Given the description of an element on the screen output the (x, y) to click on. 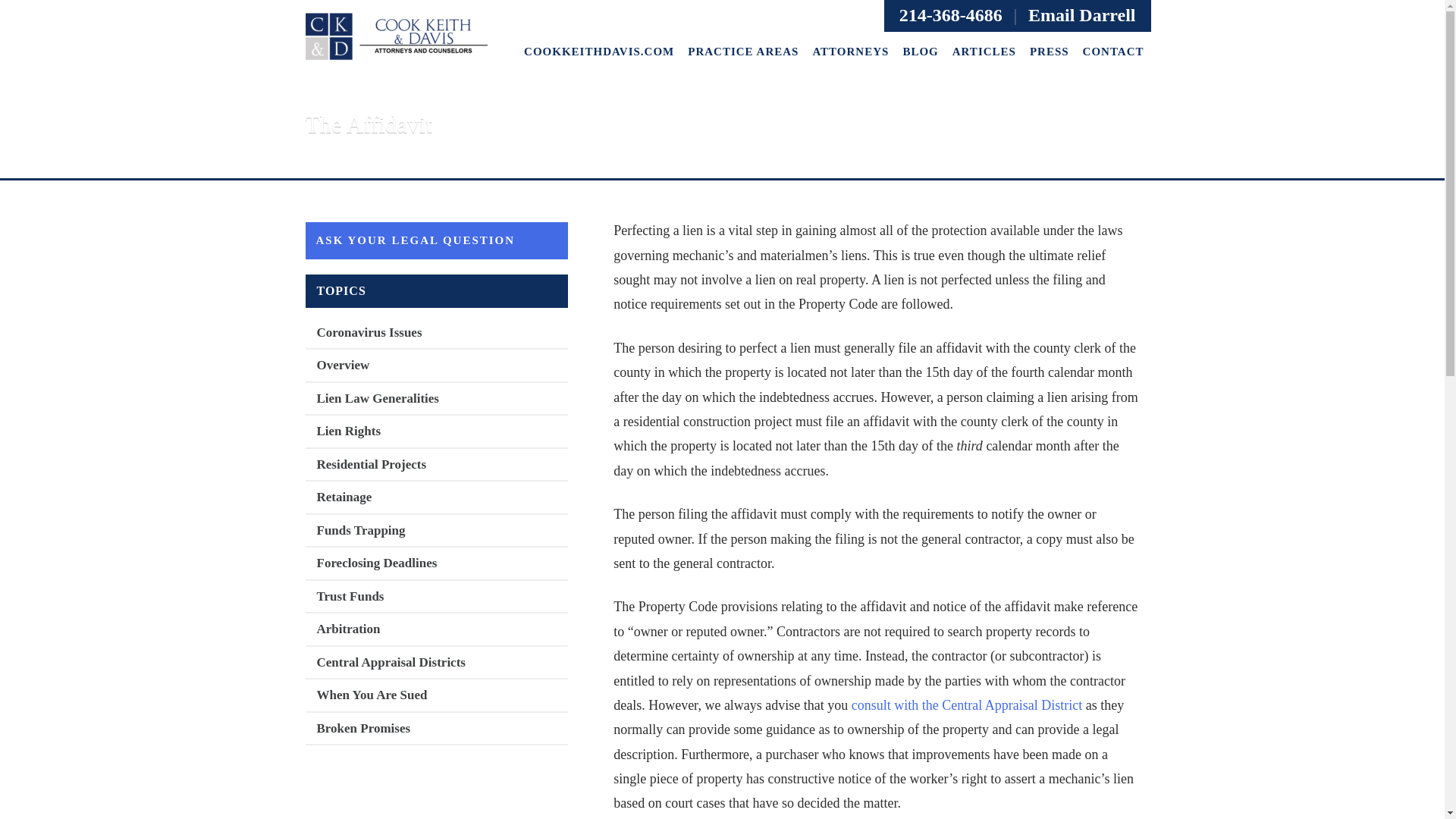
ARTICLES (983, 51)
PRACTICE AREAS (743, 51)
ATTORNEYS (850, 51)
CONTACT (1113, 51)
PRESS (1049, 51)
COOKKEITHDAVIS.COM (598, 51)
BLOG (919, 51)
consult with the Central Appraisal District (966, 704)
Email Darrell (1081, 14)
